Given the description of an element on the screen output the (x, y) to click on. 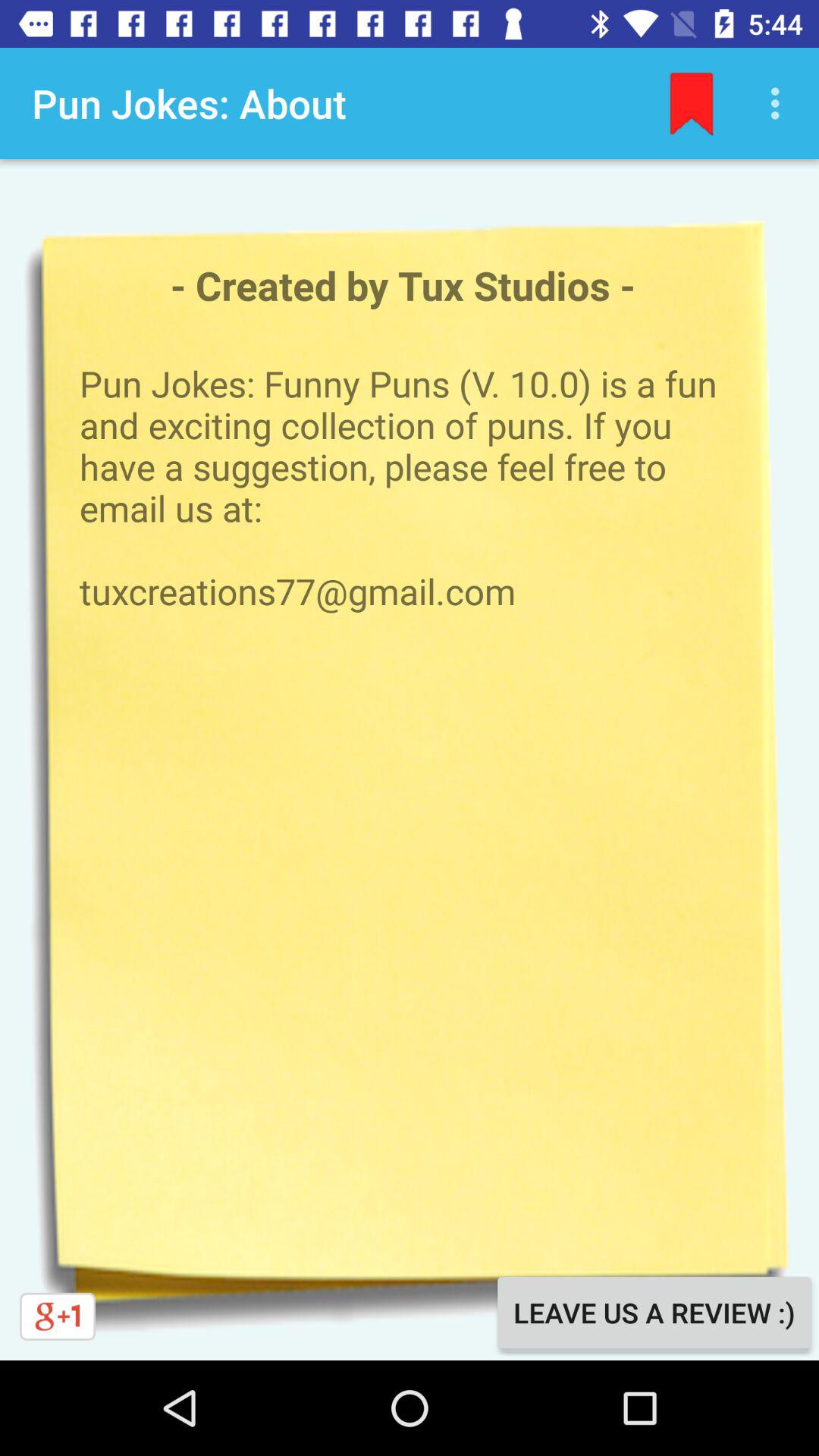
flip until the leave us a item (654, 1312)
